Given the description of an element on the screen output the (x, y) to click on. 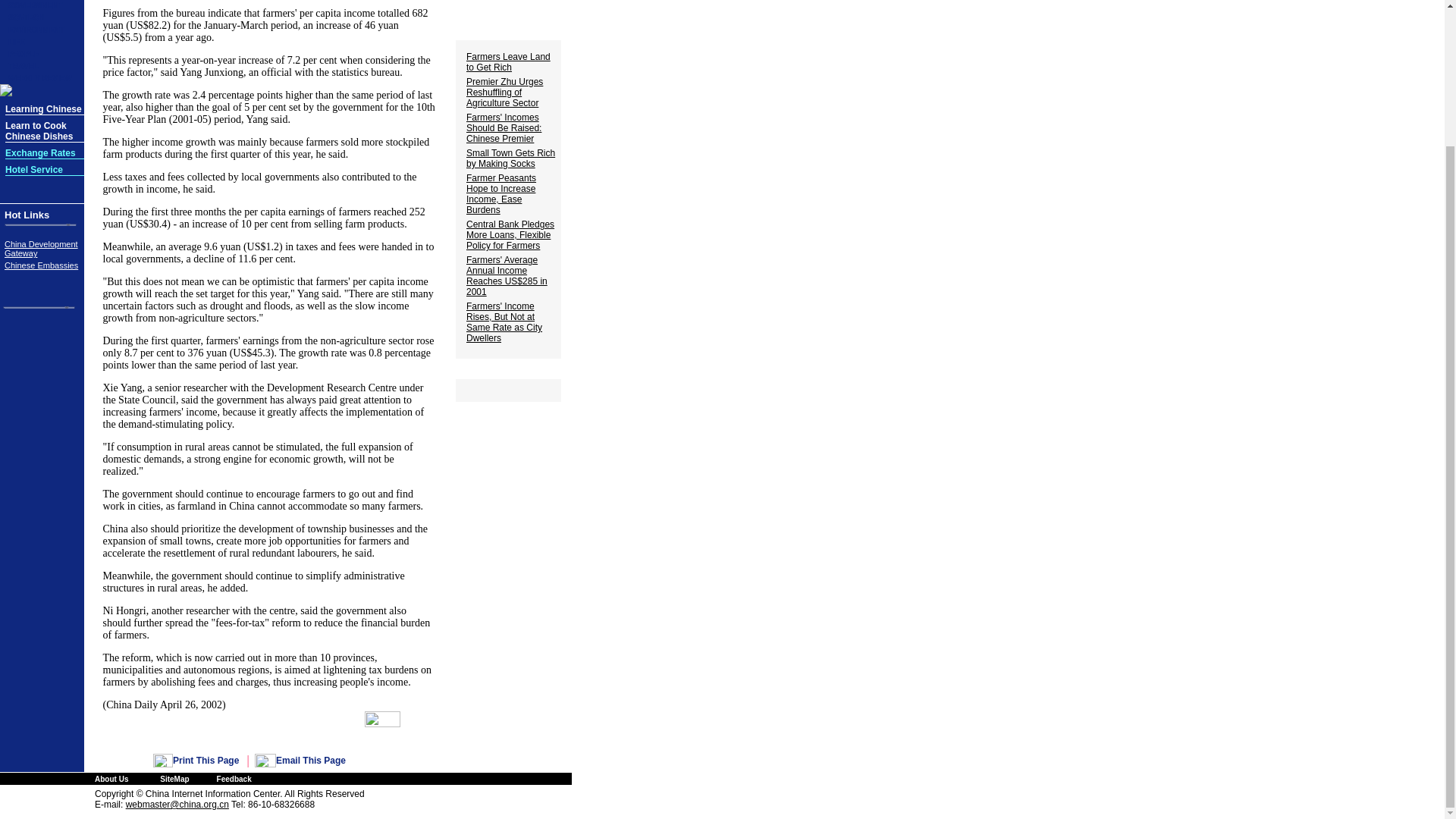
Learn to Cook Chinese Dishes (38, 131)
SCI-TECH (25, 17)
Central Bank Pledges More Loans, Flexible Policy for Farmers (509, 234)
Farmers Leave Land to Get Rich (507, 61)
Premier Zhu Urges Reshuffling of Agriculture Sector (504, 92)
Farmer Peasants Hope to Increase Income, Ease Burdens (500, 193)
ENVIRONMENT (36, 29)
SiteMap (174, 778)
Chinese Embassies (41, 265)
China Development Gateway (41, 248)
About Us (111, 778)
Small Town Gets Rich by Making Socks (509, 158)
GOVERNMENT (35, 5)
Email This Page (311, 760)
Exchange Rates (40, 153)
